Given the description of an element on the screen output the (x, y) to click on. 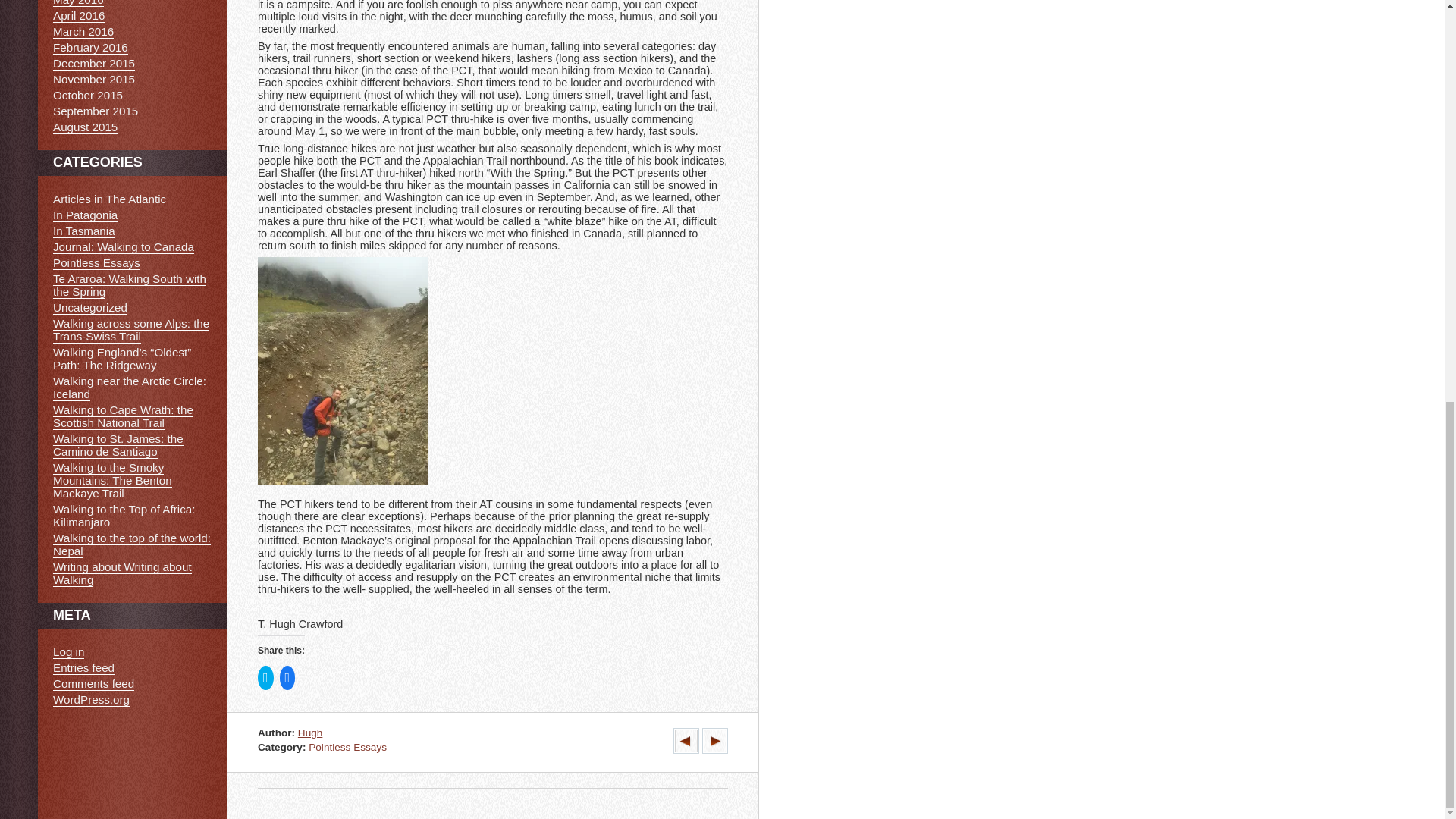
Hugh (310, 732)
Pointless Essays (347, 747)
May 2016 (77, 3)
April 2016 (78, 15)
